Given the description of an element on the screen output the (x, y) to click on. 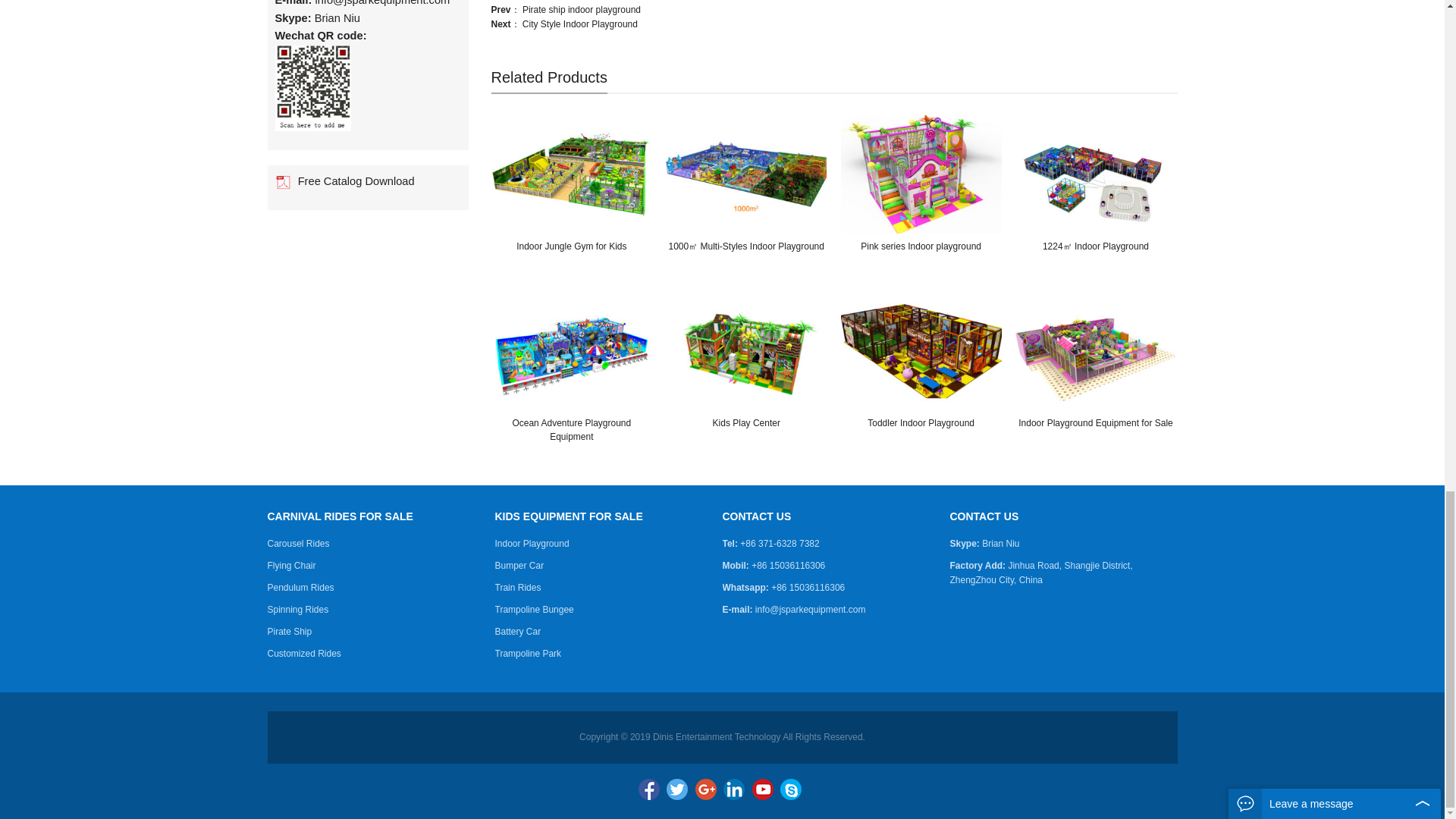
Indoor Jungle Gym for Kids (572, 173)
Ocean Adventure Playground Equipment (572, 349)
Pink series Indoor playground (921, 173)
Kids Play Center (746, 349)
Indoor Playground Equipment for Sale (1095, 349)
Toddler Indoor Playground (921, 349)
